Given the description of an element on the screen output the (x, y) to click on. 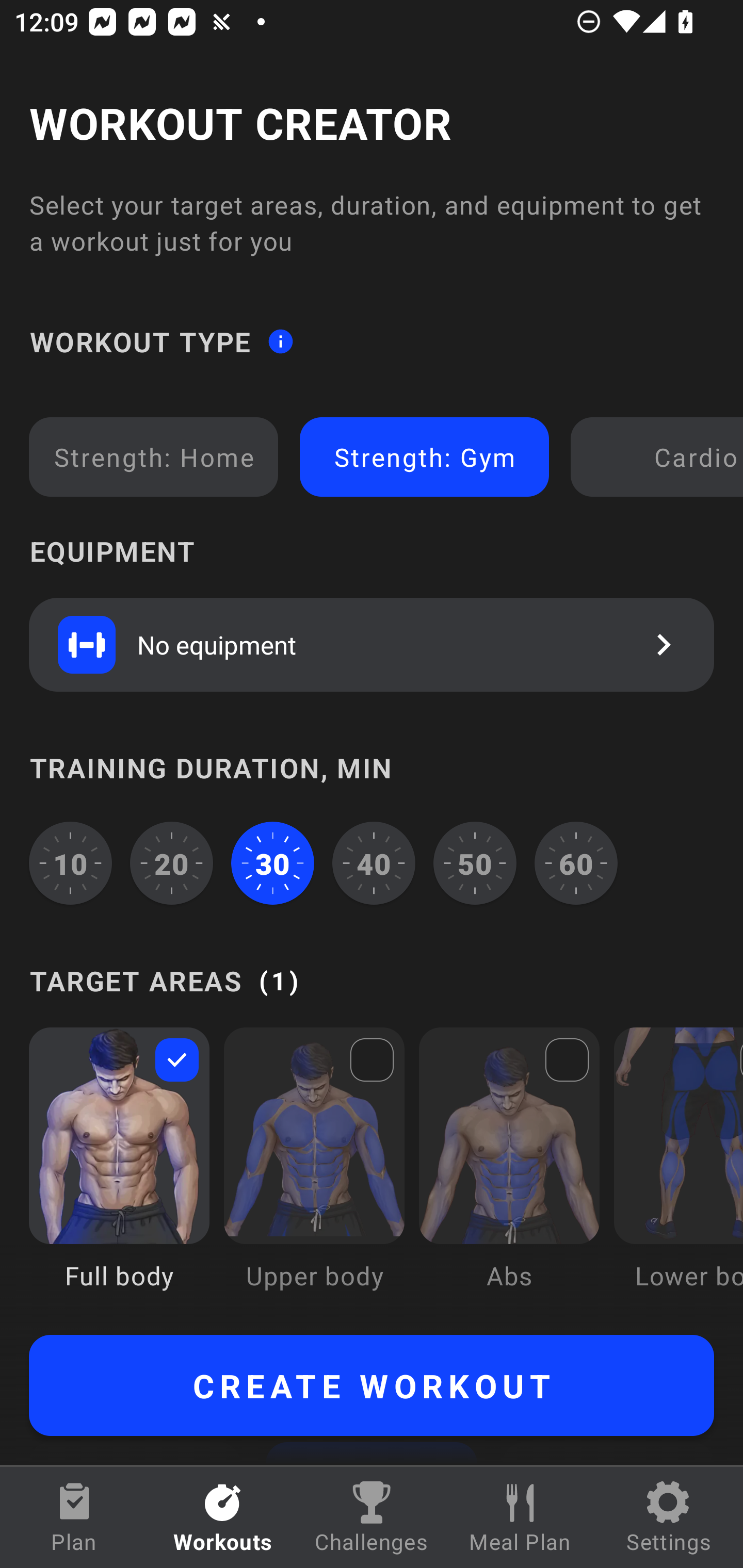
Workout type information button (280, 340)
Strength: Home (153, 457)
Cardio (660, 457)
No equipment (371, 644)
10 (70, 863)
20 (171, 863)
30 (272, 863)
40 (373, 863)
50 (474, 863)
60 (575, 863)
Upper body (313, 1172)
Abs (509, 1172)
Lower body (678, 1172)
CREATE WORKOUT (371, 1385)
 Plan  (74, 1517)
 Challenges  (371, 1517)
 Meal Plan  (519, 1517)
 Settings  (668, 1517)
